Given the description of an element on the screen output the (x, y) to click on. 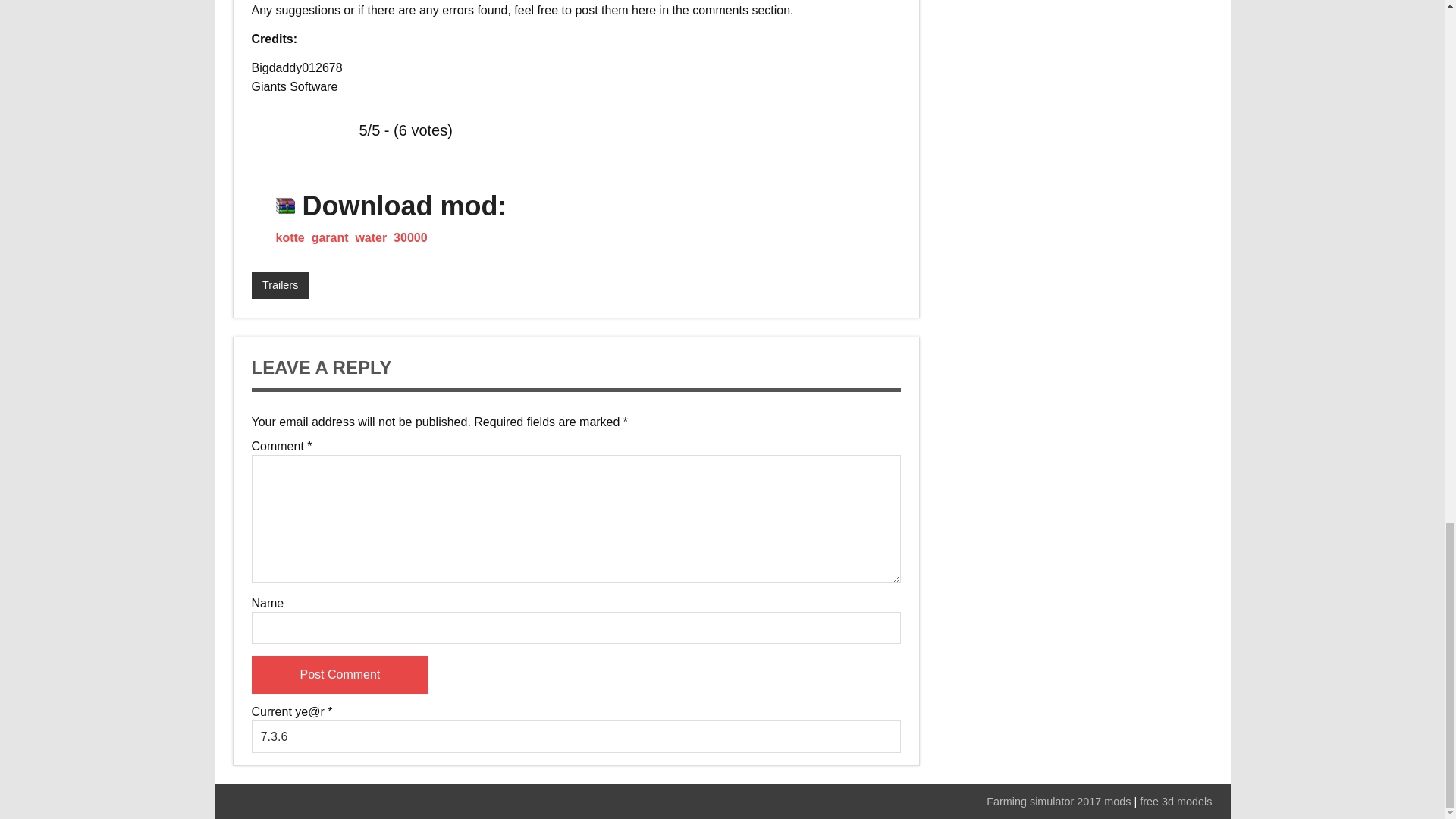
Farming simulator 2017 mods (1059, 801)
Post Comment (340, 674)
Trailers (279, 285)
Post Comment (340, 674)
free 3d models download (1175, 801)
7.3.6 (576, 736)
